Given the description of an element on the screen output the (x, y) to click on. 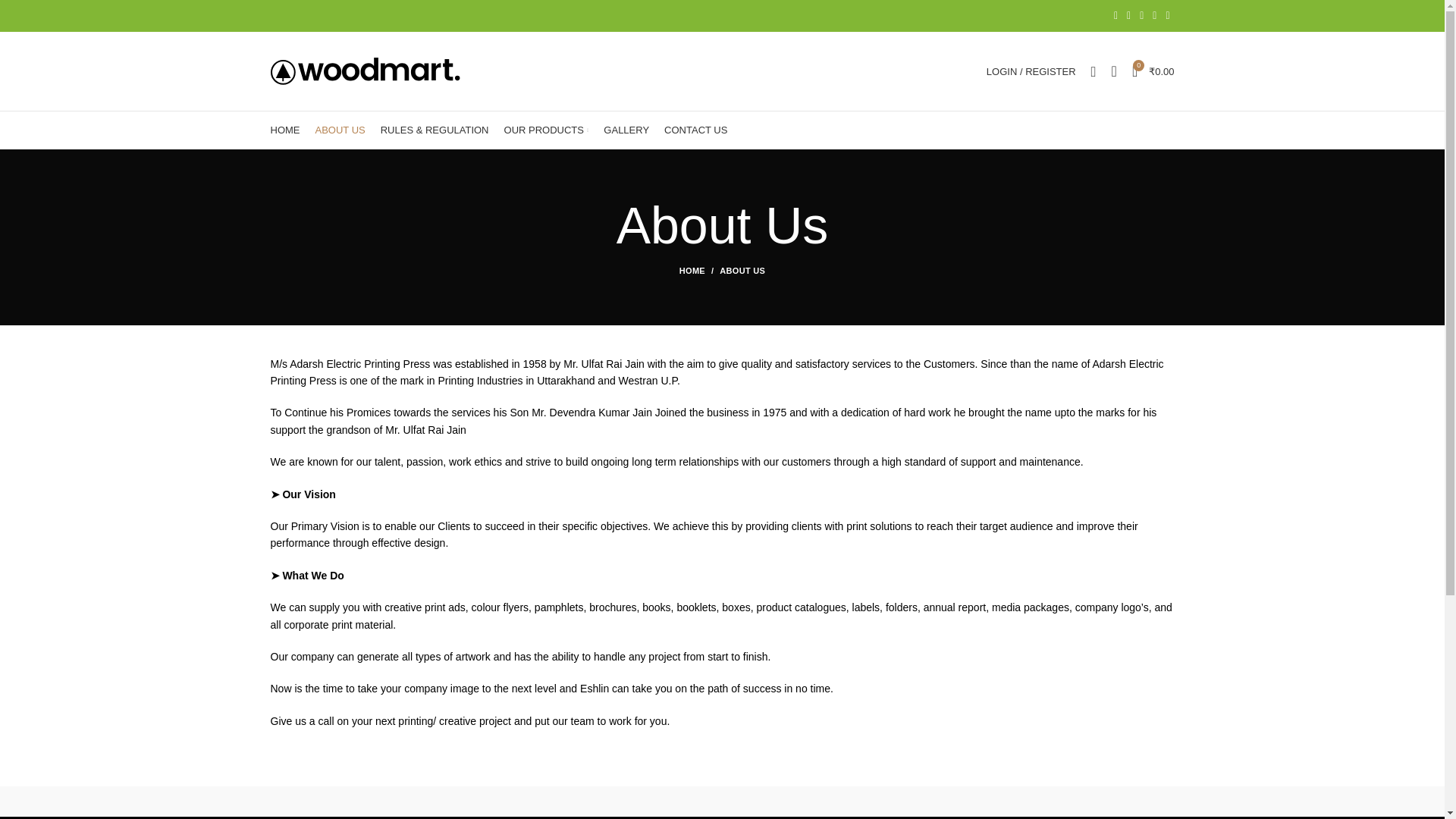
Shopping cart (1153, 71)
HOME (699, 270)
My account (1030, 71)
OUR PRODUCTS (546, 130)
Log in (950, 312)
HOME (284, 130)
CONTACT US (695, 130)
ABOUT US (339, 130)
GALLERY (625, 130)
